Given the description of an element on the screen output the (x, y) to click on. 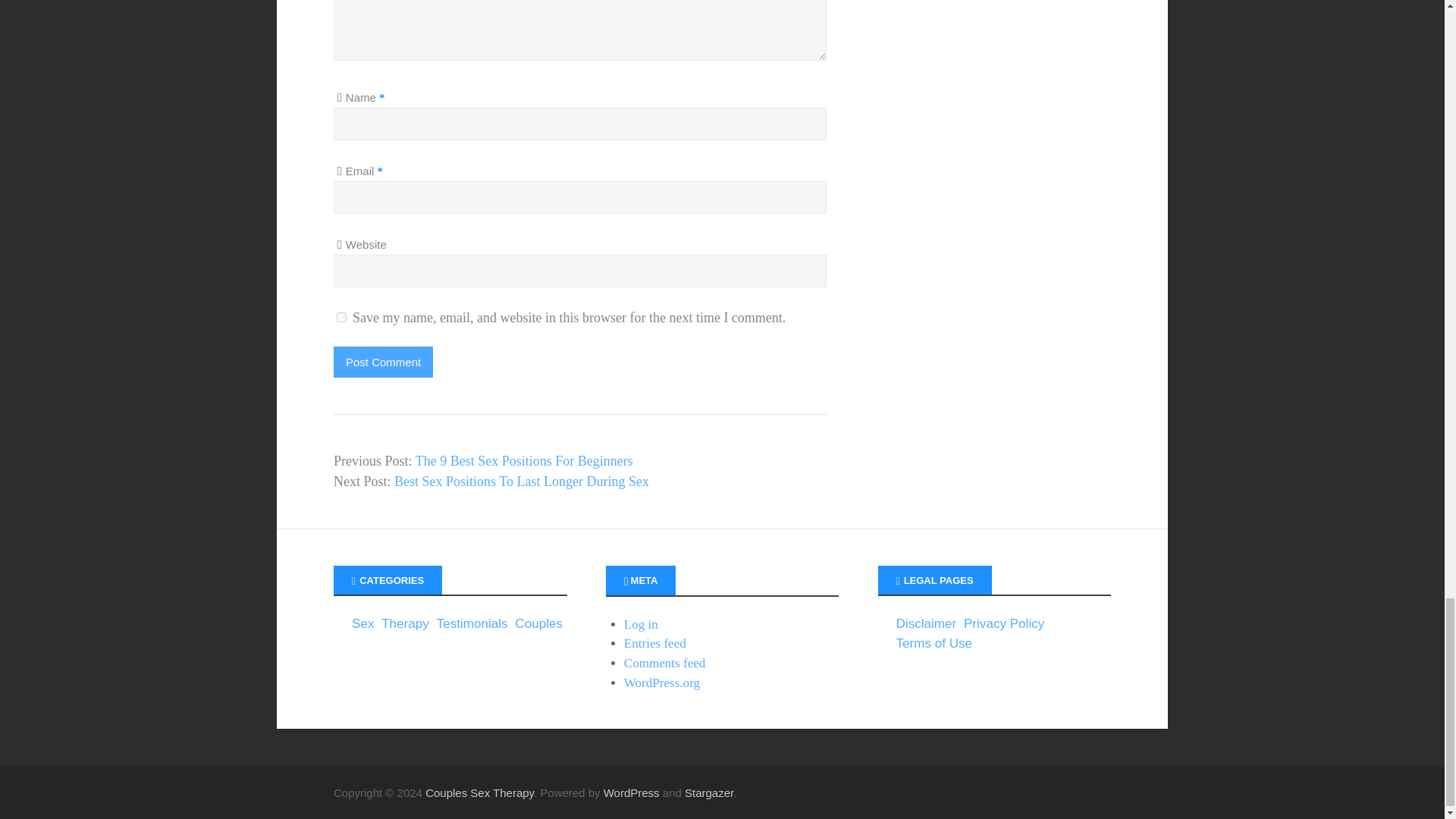
Post Comment (382, 361)
Post Comment (382, 361)
Best Sex Positions To Last Longer During Sex (521, 481)
yes (341, 317)
The 9 Best Sex Positions For Beginners (523, 460)
